Given the description of an element on the screen output the (x, y) to click on. 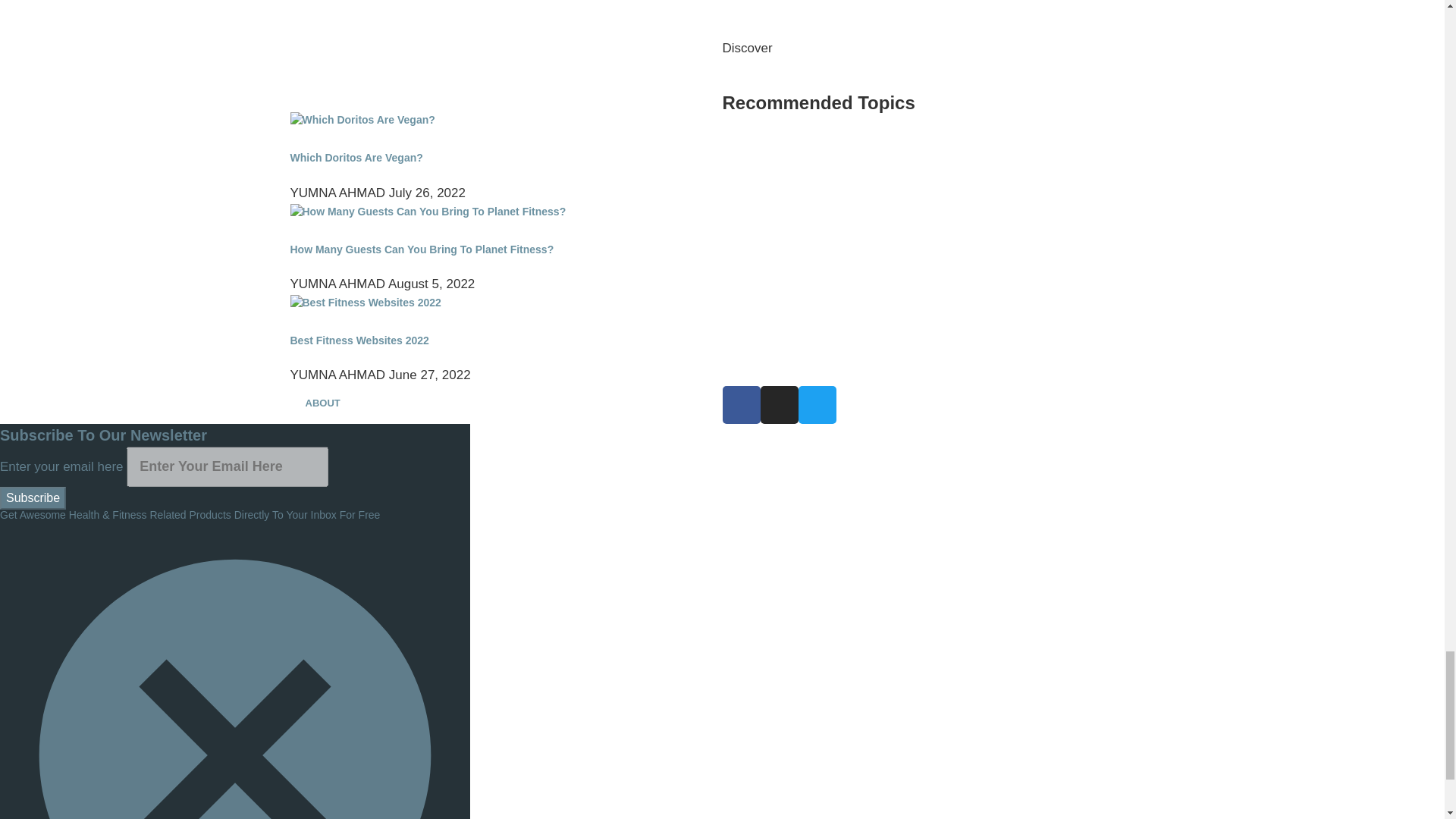
Subscribe (32, 497)
